Given the description of an element on the screen output the (x, y) to click on. 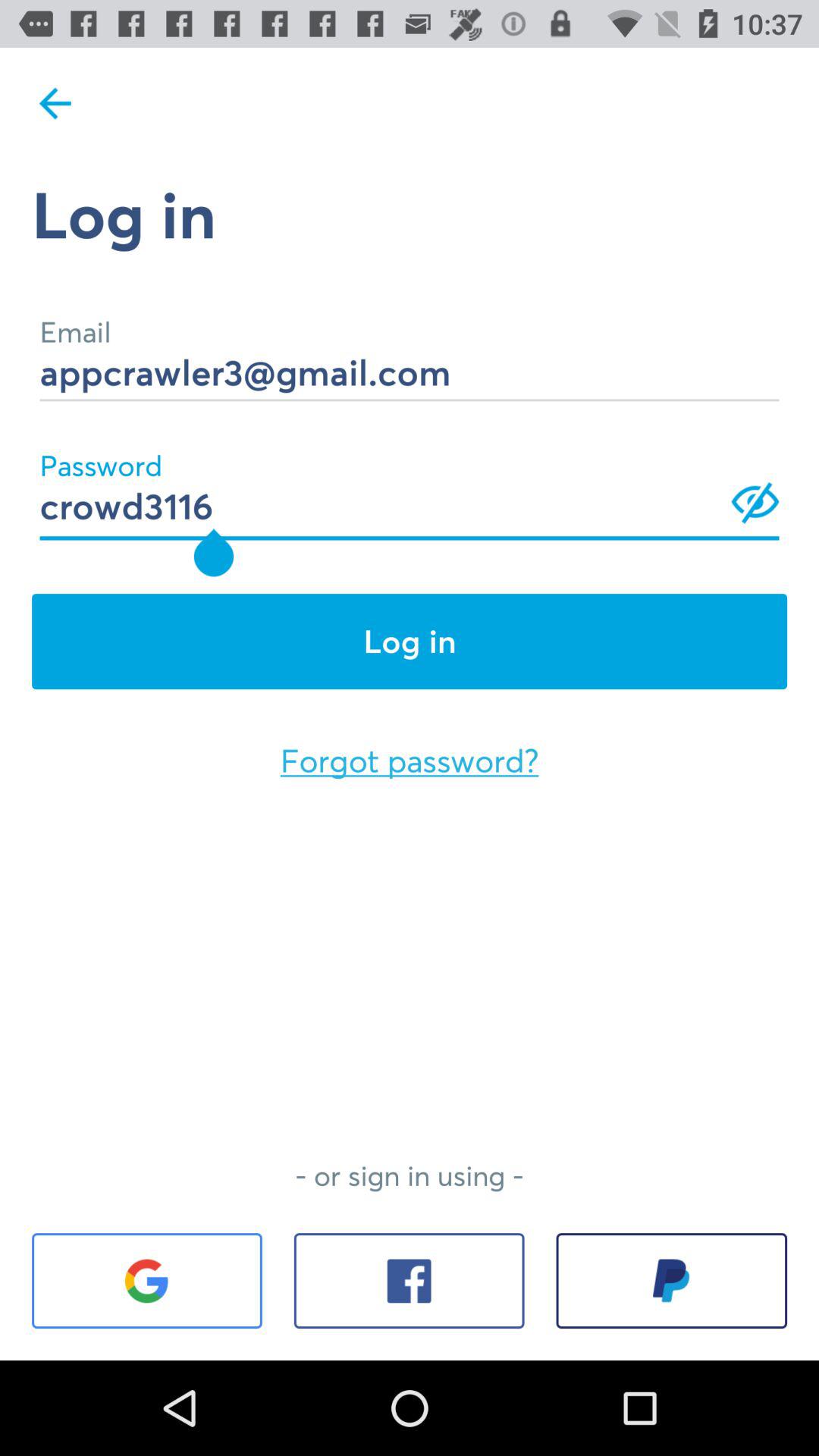
select crowd3116 icon (409, 484)
